Given the description of an element on the screen output the (x, y) to click on. 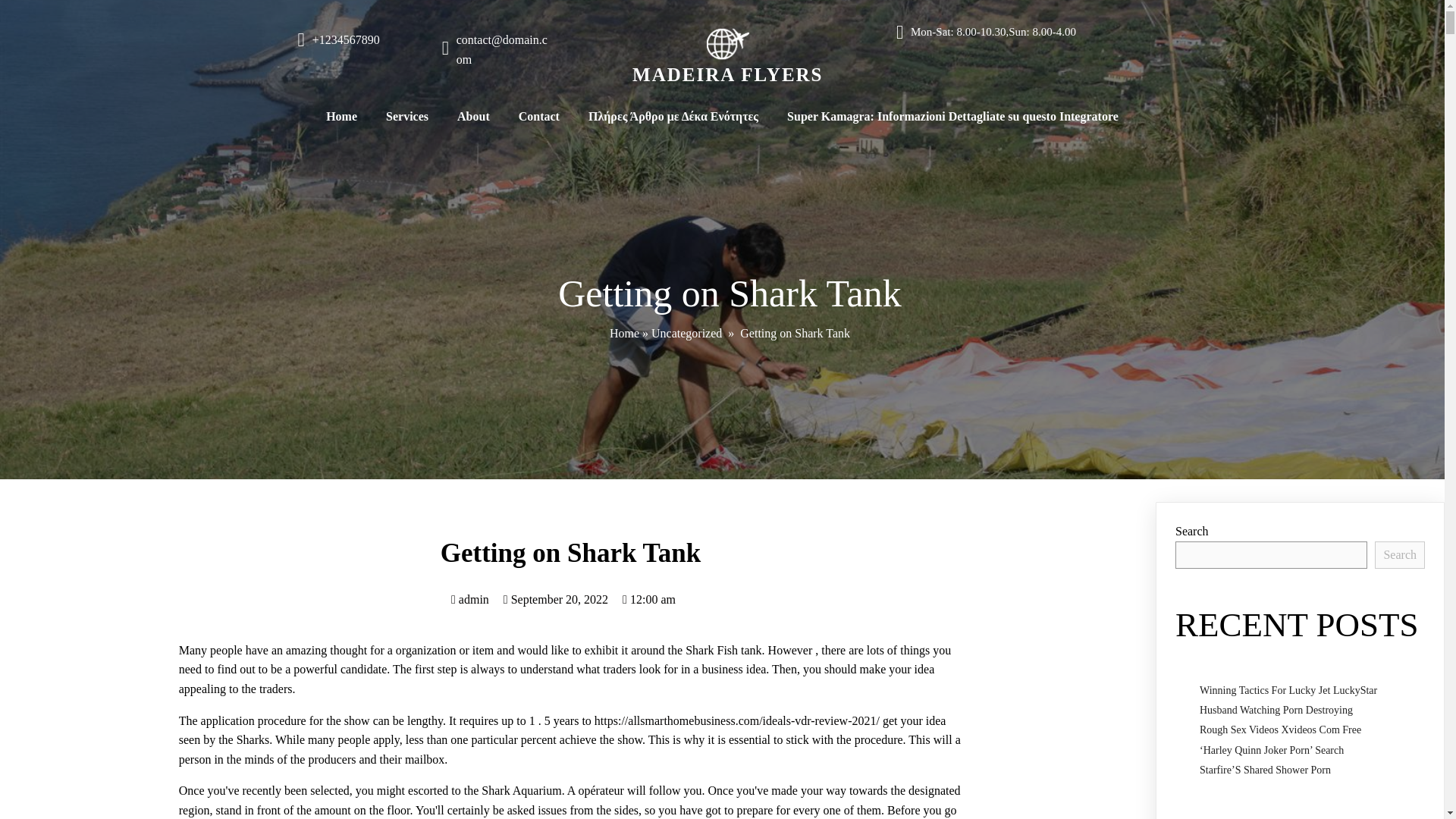
About (473, 116)
12:00 am (649, 599)
Services (406, 116)
Uncategorized (686, 332)
admin (470, 599)
Husband Watching Porn Destroying (1275, 709)
Home (341, 116)
Winning Tactics For Lucky Jet LuckyStar (1288, 690)
Home (624, 332)
